Given the description of an element on the screen output the (x, y) to click on. 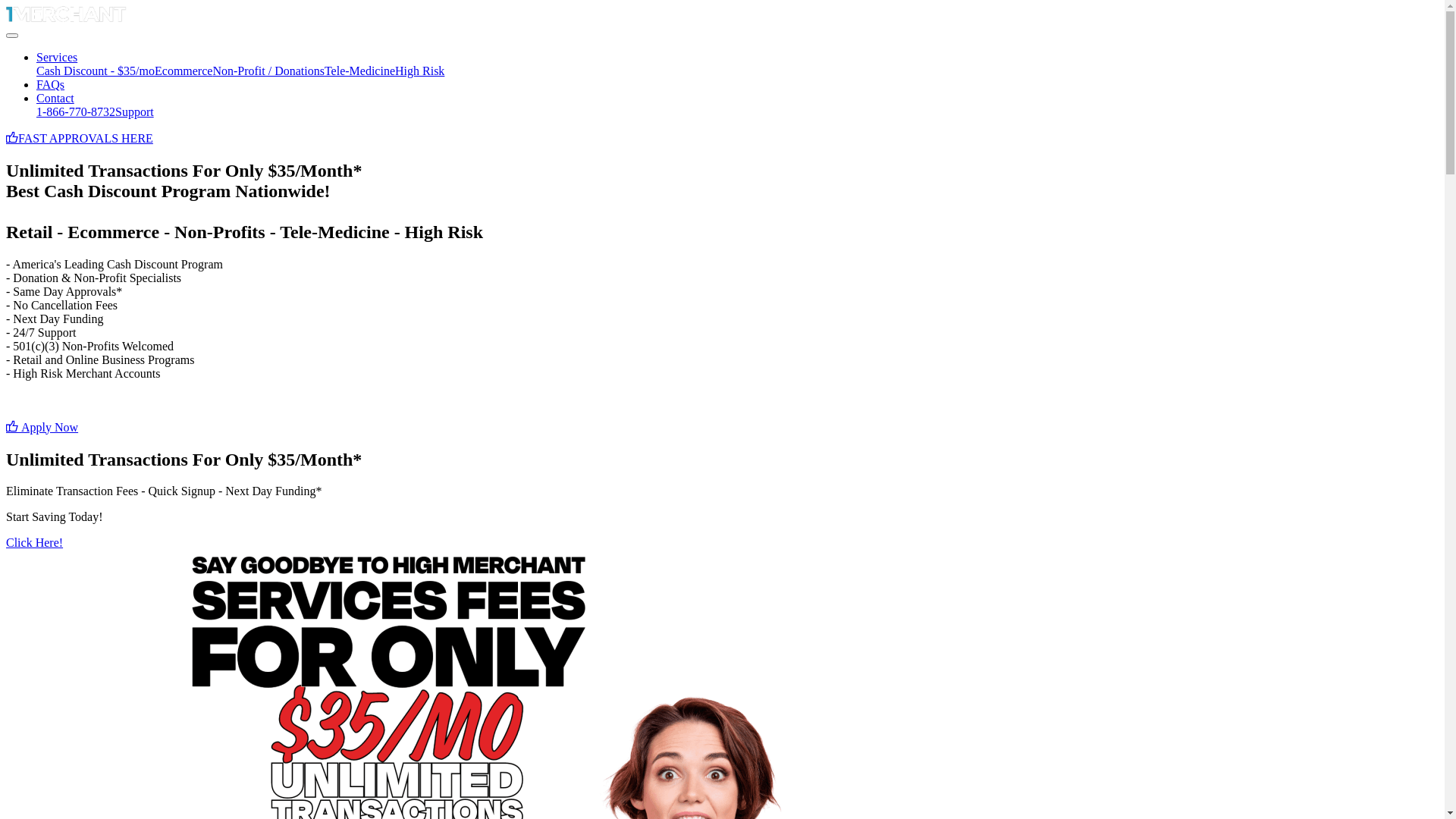
Support Element type: text (134, 111)
Services Element type: text (56, 56)
Tele-Medicine Element type: text (359, 70)
Ecommerce Element type: text (183, 70)
High Risk Element type: text (419, 70)
FAST APPROVALS HERE Element type: text (79, 137)
Cash Discount - $35/mo Element type: text (95, 70)
Non-Profit / Donations Element type: text (268, 70)
Apply Now Element type: text (42, 426)
1-866-770-8732 Element type: text (75, 111)
Click Here! Element type: text (34, 542)
Contact Element type: text (55, 97)
FAQs Element type: text (50, 84)
